Given the description of an element on the screen output the (x, y) to click on. 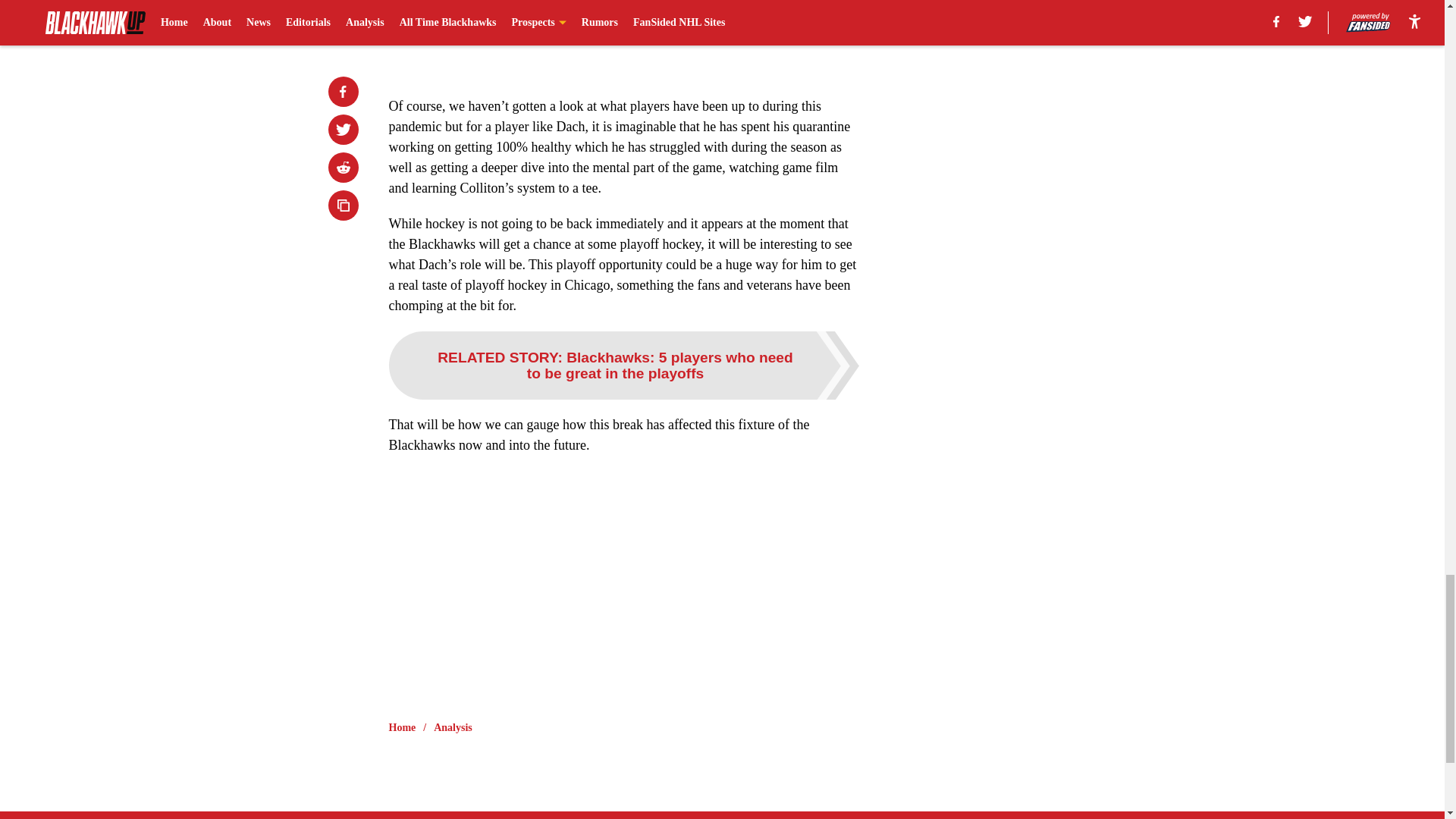
Home (401, 727)
Analysis (452, 727)
